Given the description of an element on the screen output the (x, y) to click on. 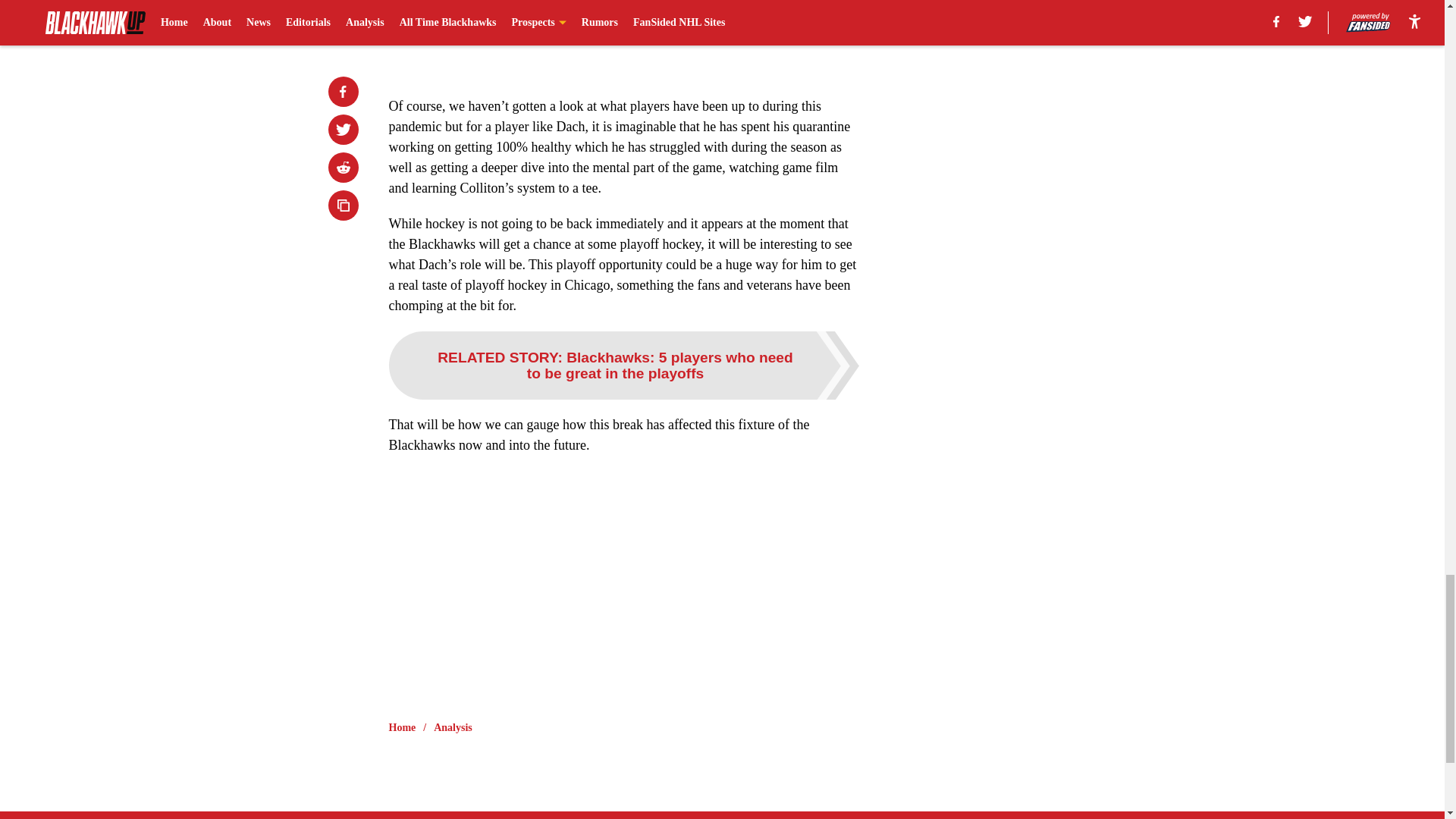
Home (401, 727)
Analysis (452, 727)
